Given the description of an element on the screen output the (x, y) to click on. 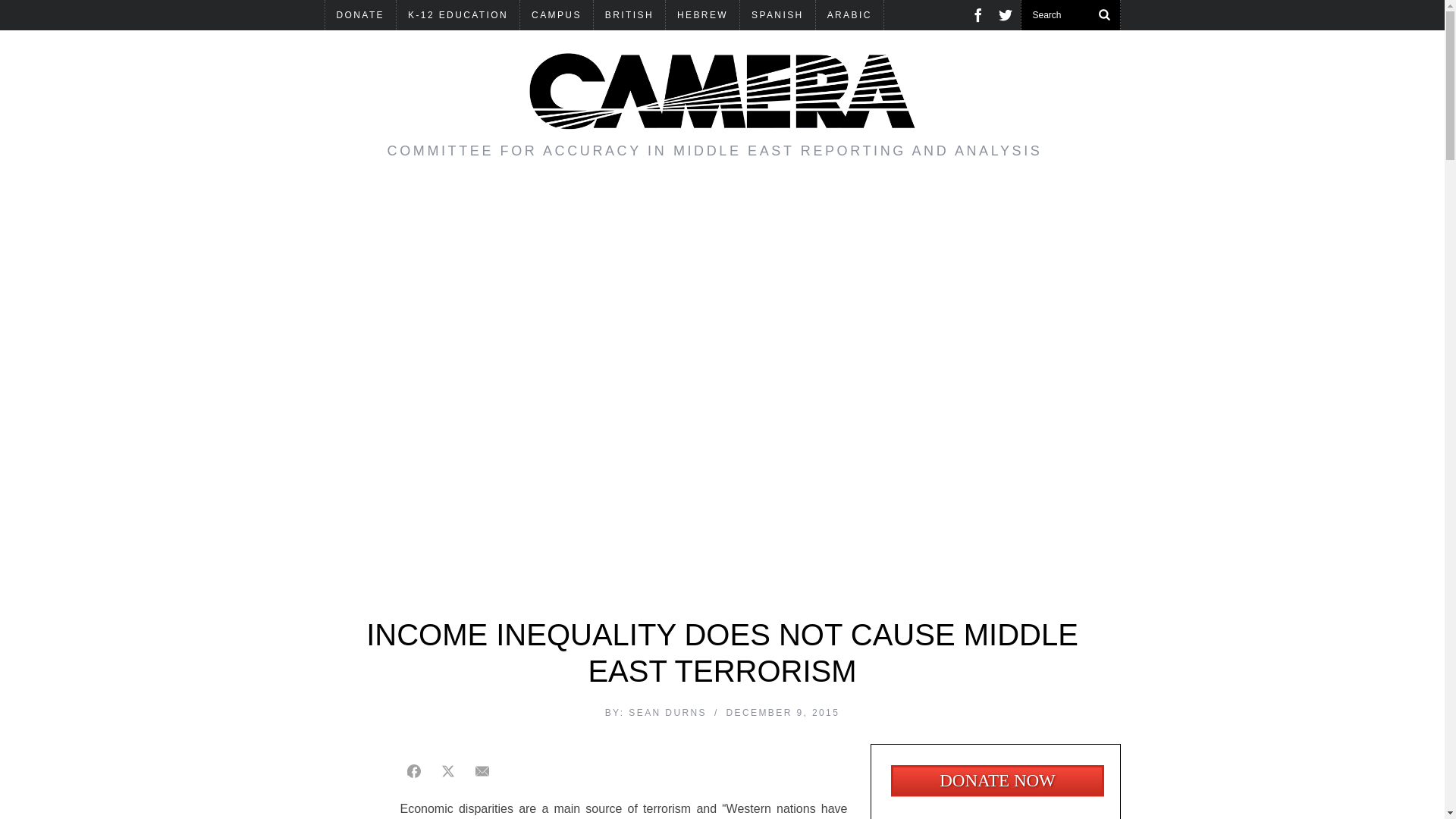
K-12 EDUCATION (457, 14)
CAMPUS (555, 14)
BRITISH (629, 14)
Share on Twitter (447, 770)
Search (1070, 15)
SPANISH (777, 14)
Share on E-mail (482, 770)
ARABIC (849, 14)
DONATE (360, 14)
Share on Facebook (414, 770)
HEBREW (702, 14)
